Given the description of an element on the screen output the (x, y) to click on. 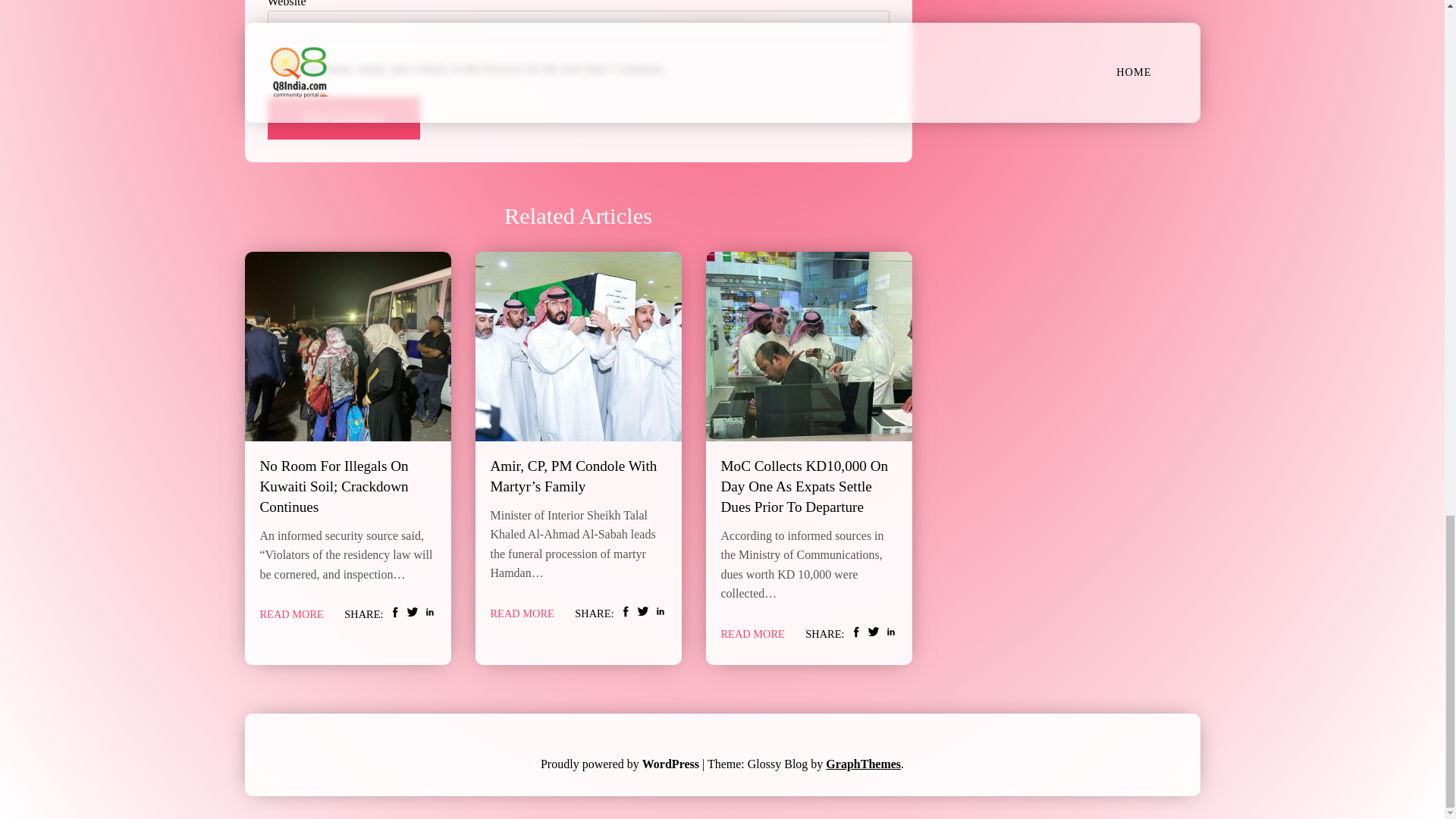
Post Comment (343, 118)
GraphThemes (863, 763)
READ MORE (521, 613)
No Room For Illegals On Kuwaiti Soil; Crackdown Continues (333, 486)
Proudly powered by WordPress (620, 763)
READ MORE (291, 614)
READ MORE (752, 633)
yes (271, 67)
Post Comment (343, 118)
